Given the description of an element on the screen output the (x, y) to click on. 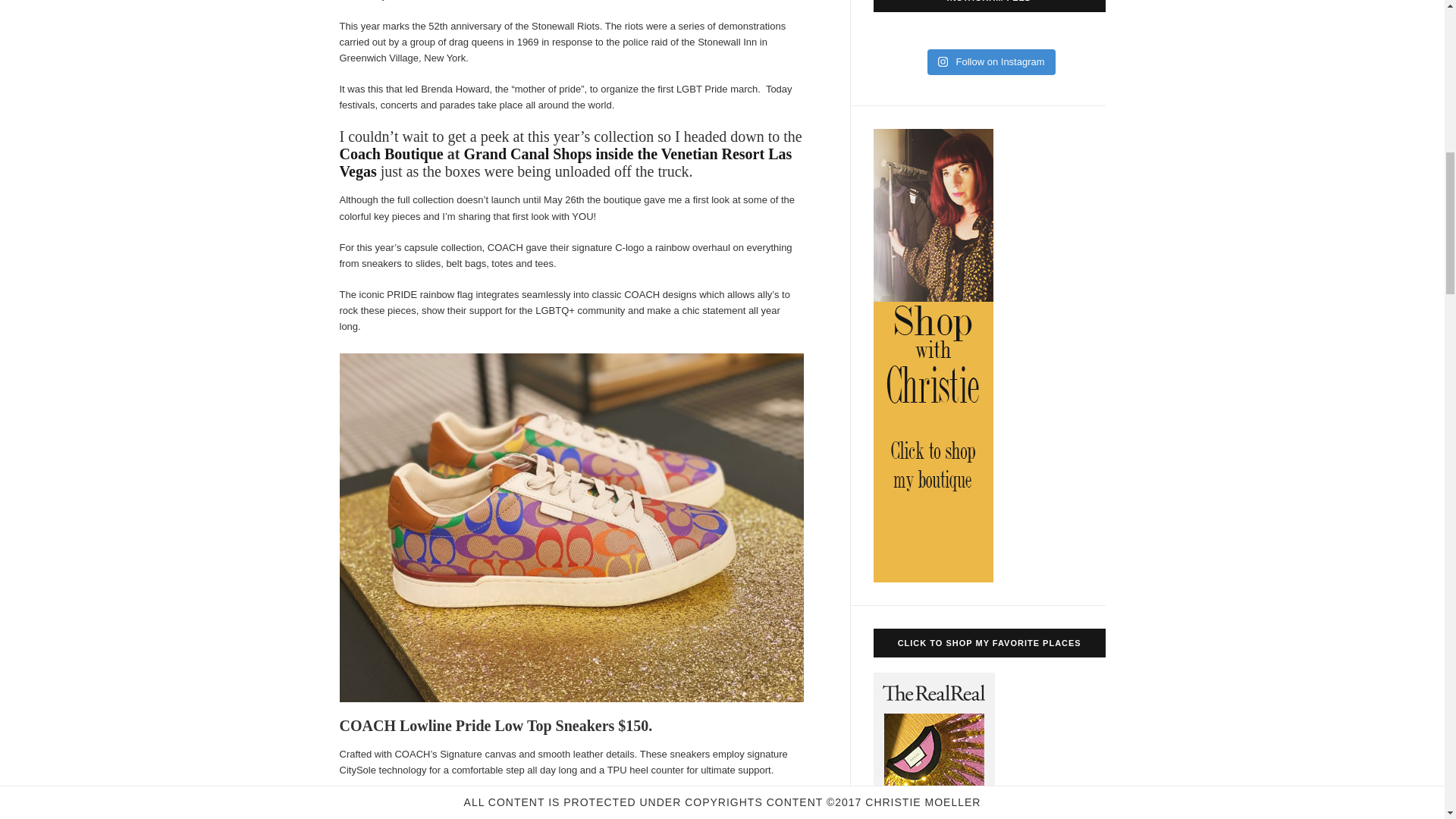
Coach Boutique (391, 153)
Follow on Instagram (991, 62)
Grand Canal Shops inside the Venetian Resort Las Vegas (565, 162)
